Given the description of an element on the screen output the (x, y) to click on. 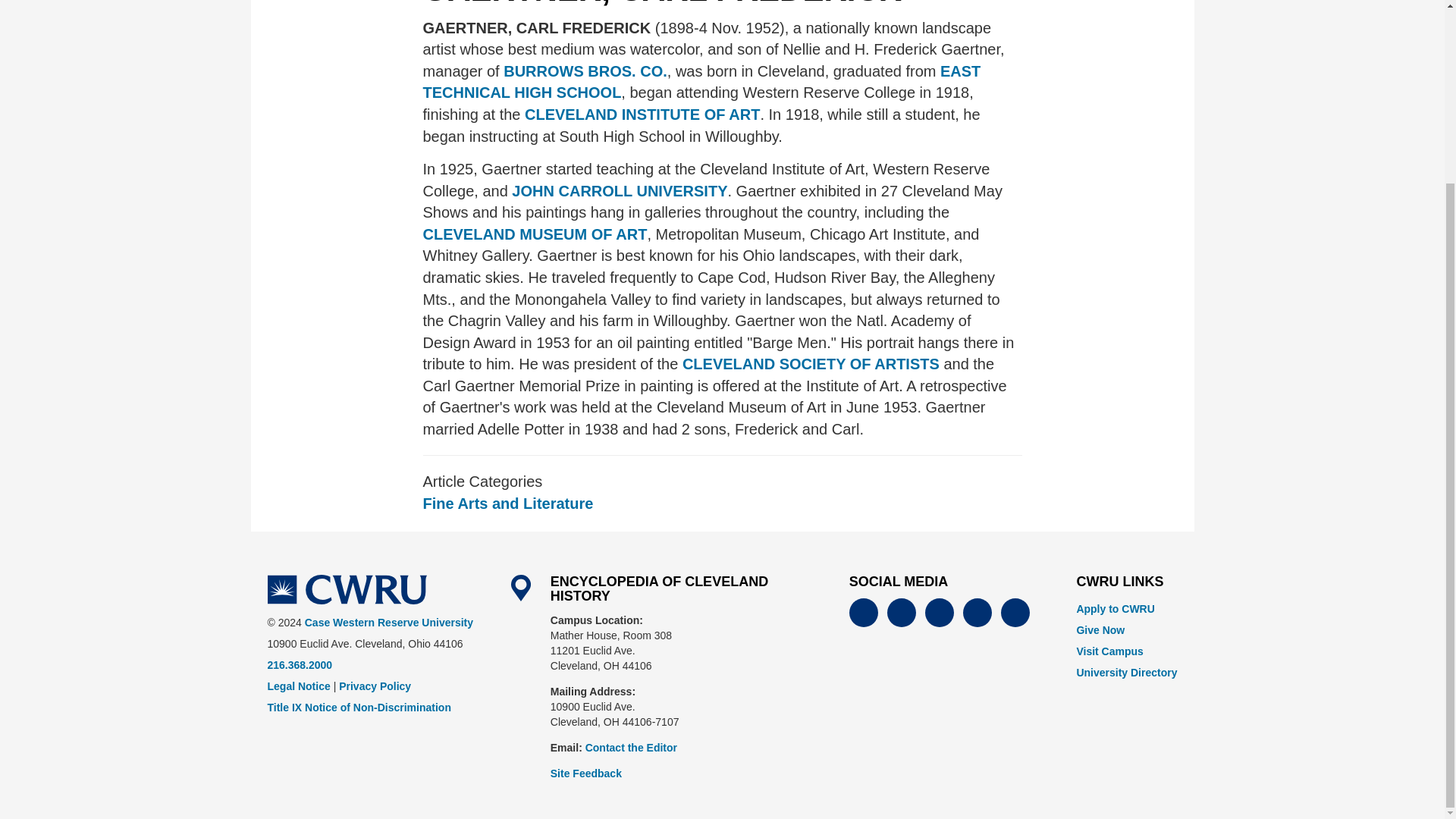
CWRU Youtube (938, 612)
CWRU Facebook (862, 612)
Case Western Reserve University (346, 589)
JOHN CARROLL UNIVERSITY (618, 190)
BURROWS (584, 71)
CWRU Twitter (900, 612)
CWRU Pinterest (1015, 612)
EAST TECHNICAL HIGH SCHOOL (702, 82)
BURROWS BROS. CO. (584, 71)
JOHN CARROLL UNIVERSITY (618, 190)
CWRU Instagram (976, 612)
CLEVELAND MUSEUM OF ART (535, 234)
CLEVELAND INSTITUTE OF ART (642, 114)
